Given the description of an element on the screen output the (x, y) to click on. 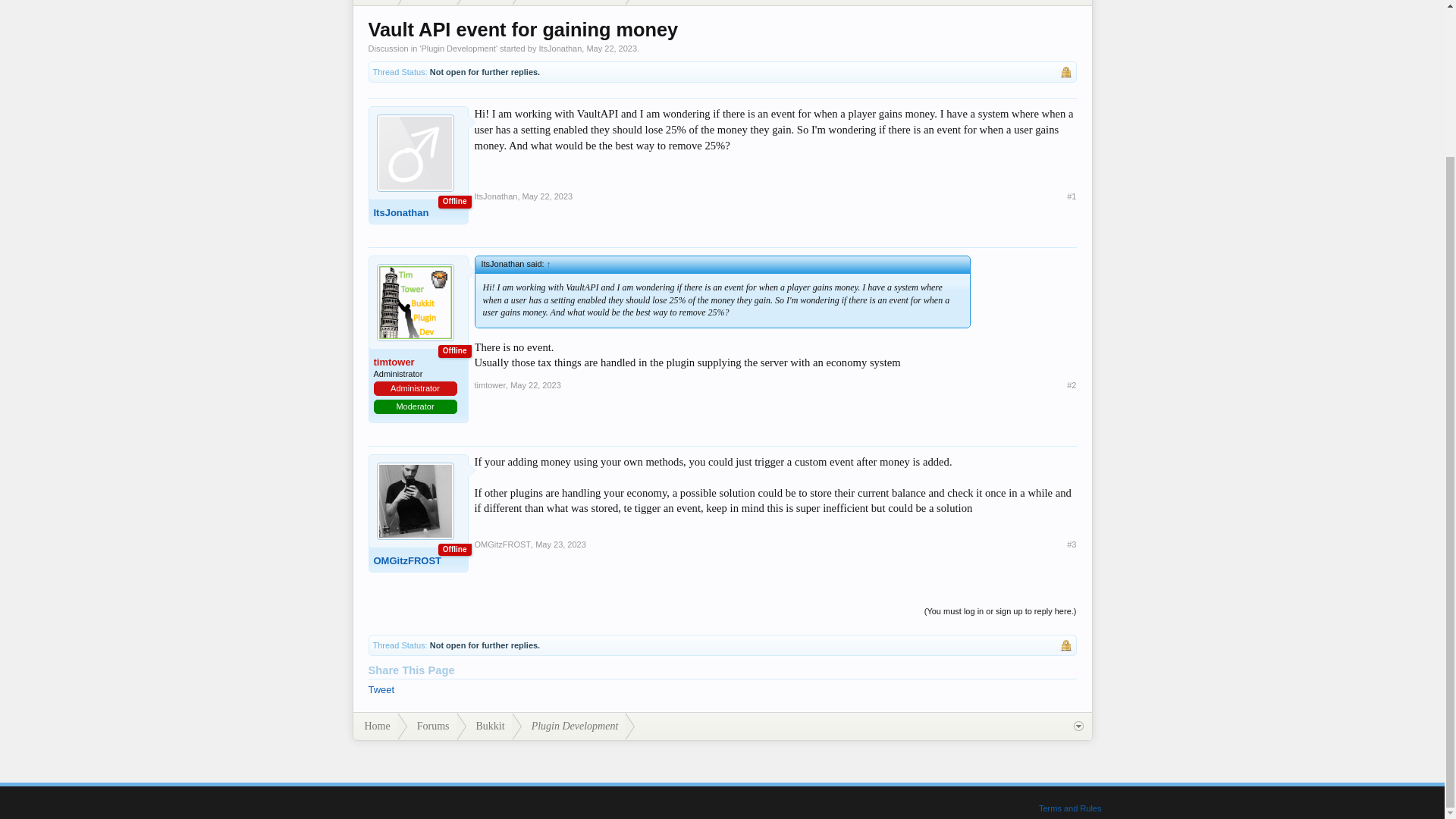
Bukkit (484, 726)
ItsJonathan (414, 211)
Permalink (1071, 195)
Permalink (1071, 543)
Home (375, 726)
OMGitzFROST (414, 559)
Permalink (535, 384)
ItsJonathan (559, 48)
Plugin Development (569, 2)
Bukkit (484, 2)
Home (375, 2)
Permalink (560, 543)
OMGitzFROST (502, 543)
timtower (414, 360)
Permalink (1071, 385)
